Given the description of an element on the screen output the (x, y) to click on. 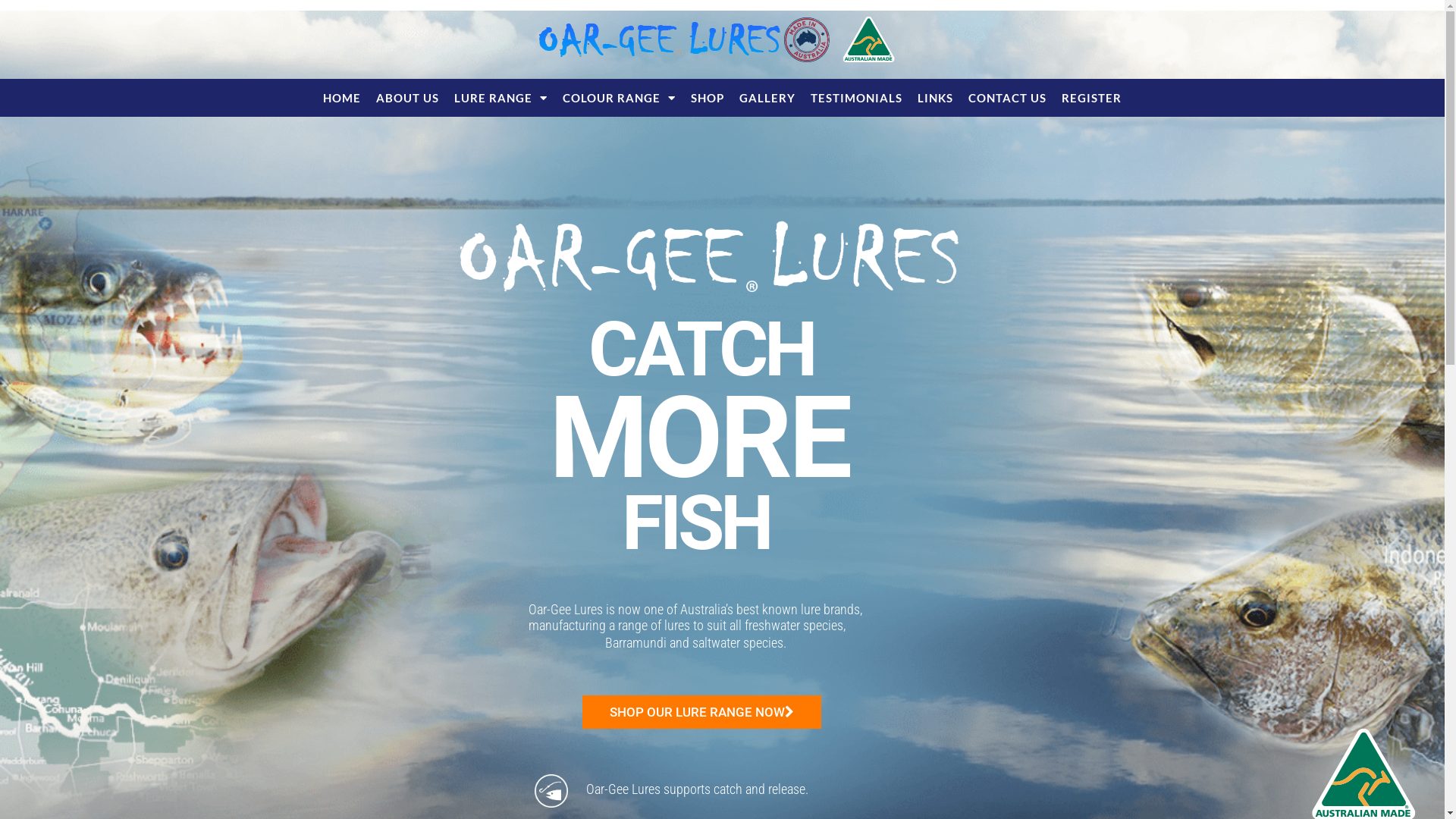
LINKS Element type: text (935, 97)
HOME Element type: text (341, 97)
GALLERY Element type: text (767, 97)
LURE RANGE Element type: text (500, 97)
TESTIMONIALS Element type: text (856, 97)
COLOUR RANGE Element type: text (619, 97)
CONTACT US Element type: text (1007, 97)
ABOUT US Element type: text (407, 97)
SHOP Element type: text (707, 97)
REGISTER Element type: text (1091, 97)
